Given the description of an element on the screen output the (x, y) to click on. 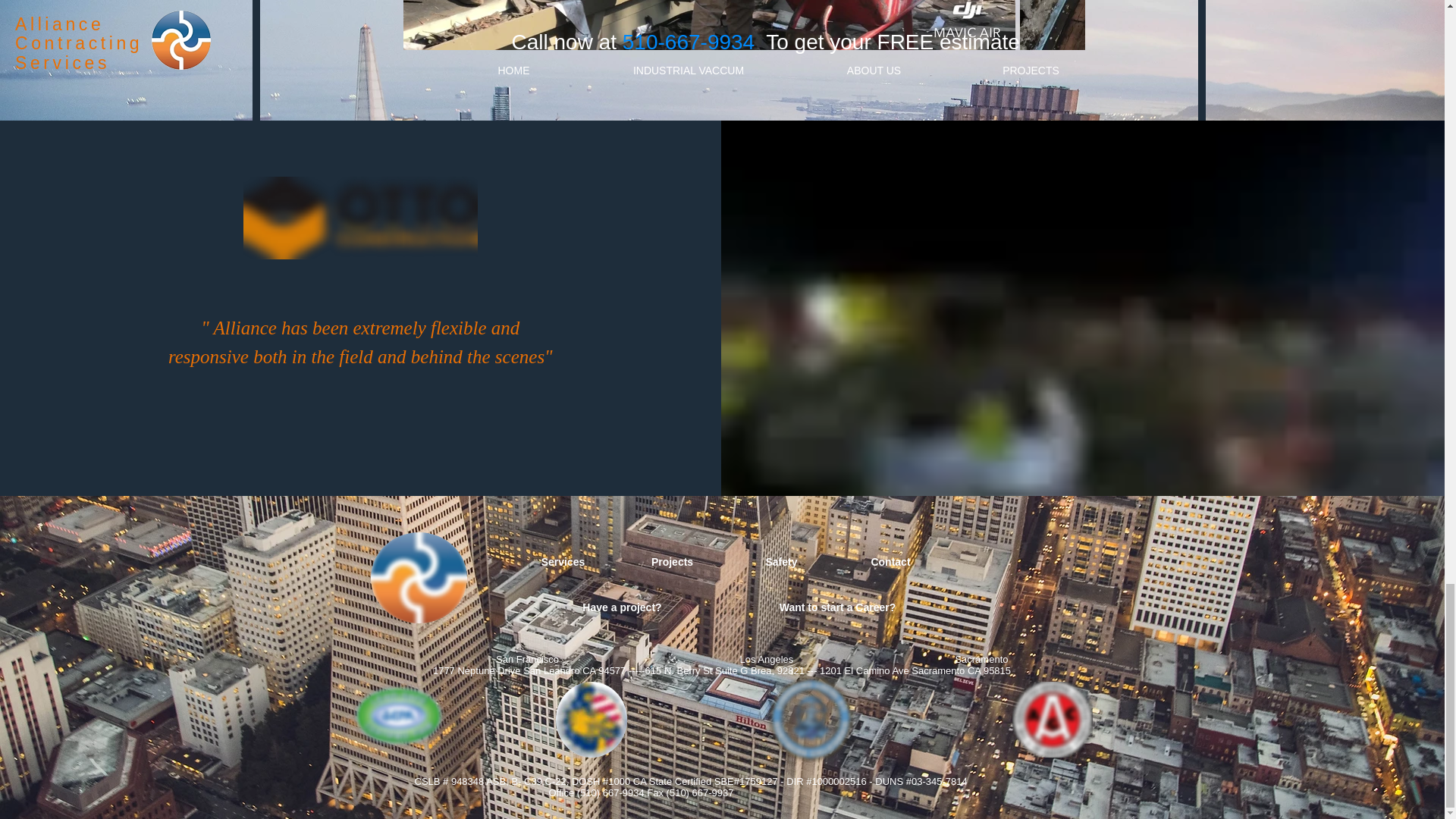
Services (562, 562)
Safety (780, 562)
Want to start a Career? (836, 607)
Contact (889, 562)
Have a project? (621, 607)
Projects (671, 562)
